Given the description of an element on the screen output the (x, y) to click on. 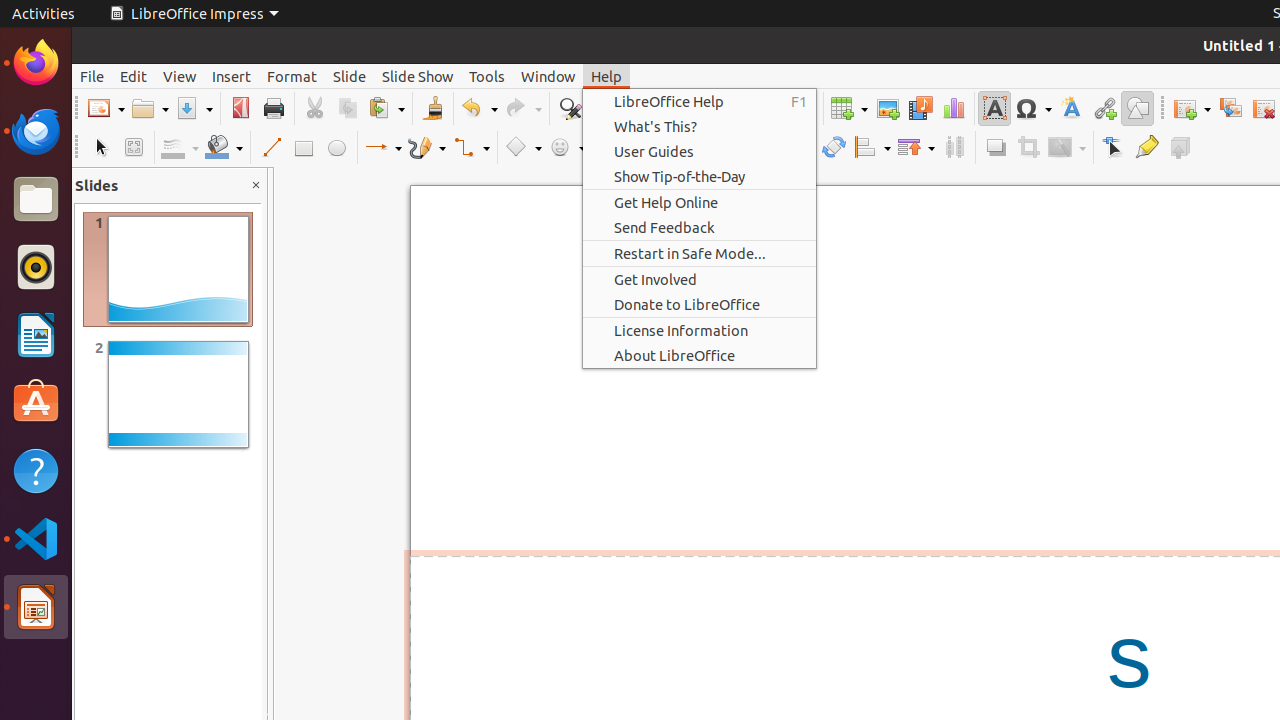
Donate to LibreOffice Element type: menu-item (699, 304)
Ellipse Element type: push-button (336, 147)
Slide Show Element type: menu (417, 76)
Send Feedback Element type: menu-item (699, 227)
